Given the description of an element on the screen output the (x, y) to click on. 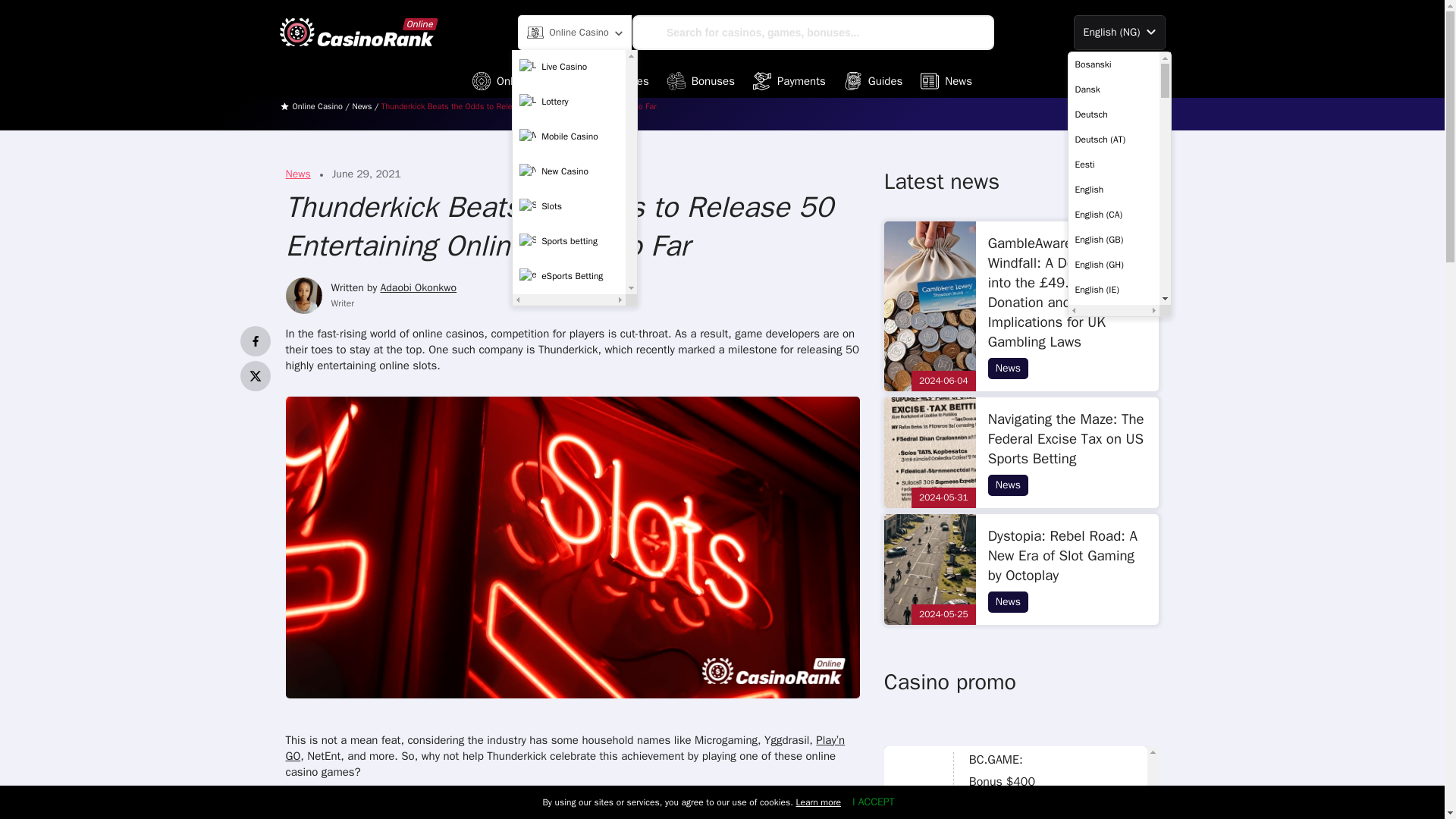
New Casino (569, 172)
Live Casino (569, 67)
Hrvatski (1113, 810)
Deutsch (1113, 113)
Lottery (569, 102)
English (1113, 189)
Slots (569, 206)
eSports Betting (569, 276)
Dansk (1113, 89)
Sports betting (569, 241)
Mobile Casino (569, 136)
Bosanski (1113, 63)
Eesti (1113, 163)
